Given the description of an element on the screen output the (x, y) to click on. 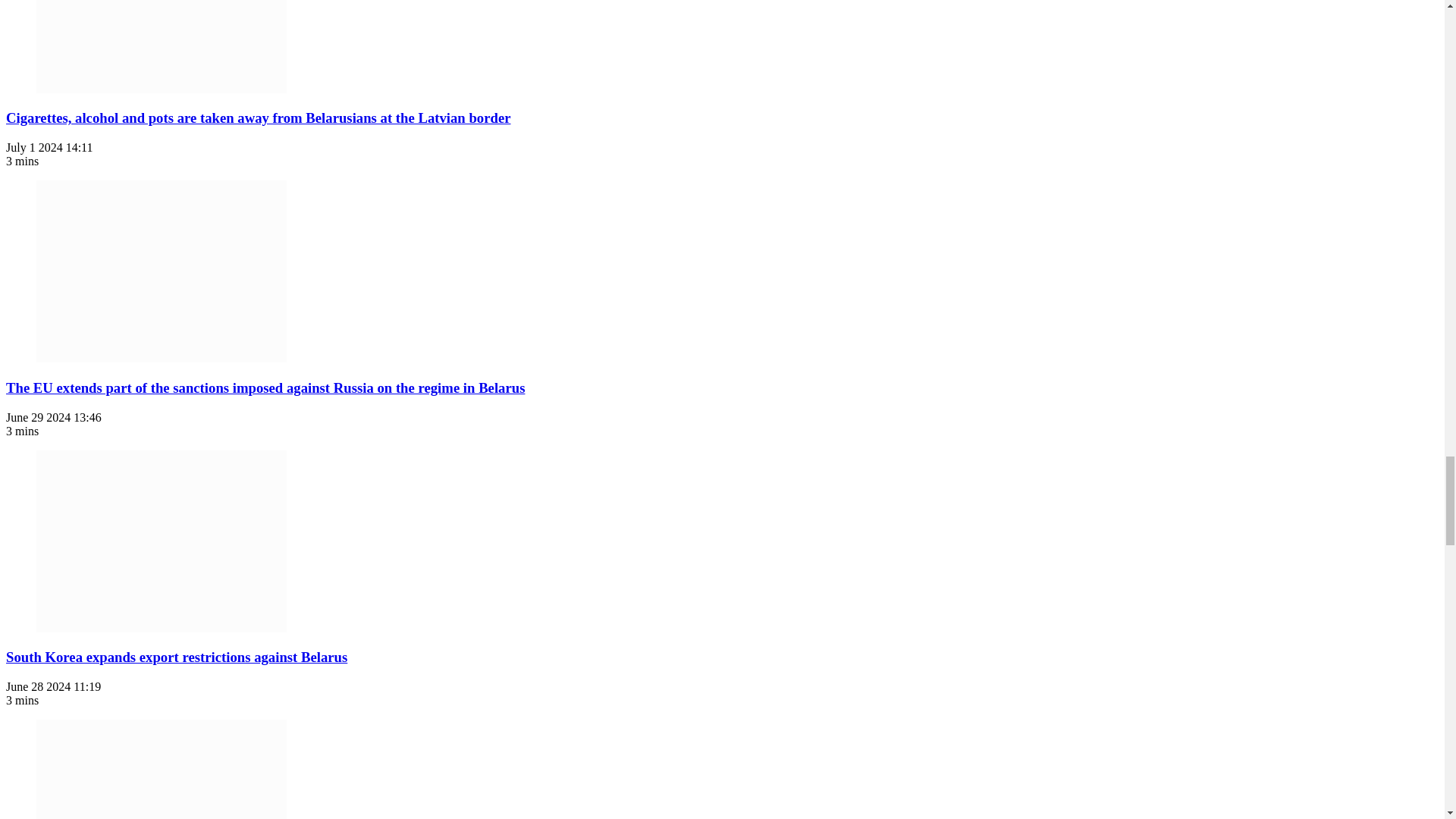
South Korea expands export restrictions against Belarus (161, 541)
